Given the description of an element on the screen output the (x, y) to click on. 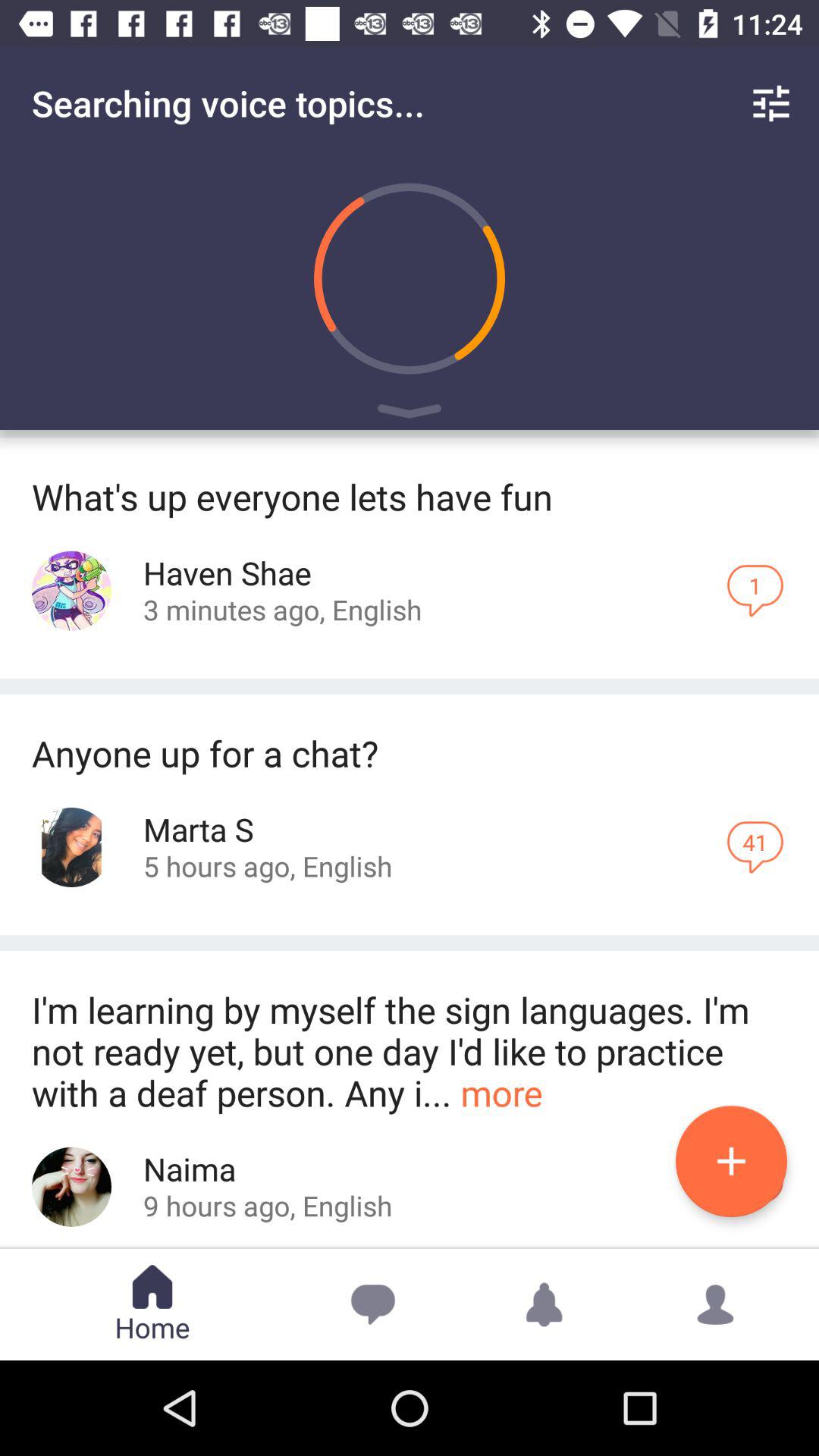
open the menu (409, 413)
